Given the description of an element on the screen output the (x, y) to click on. 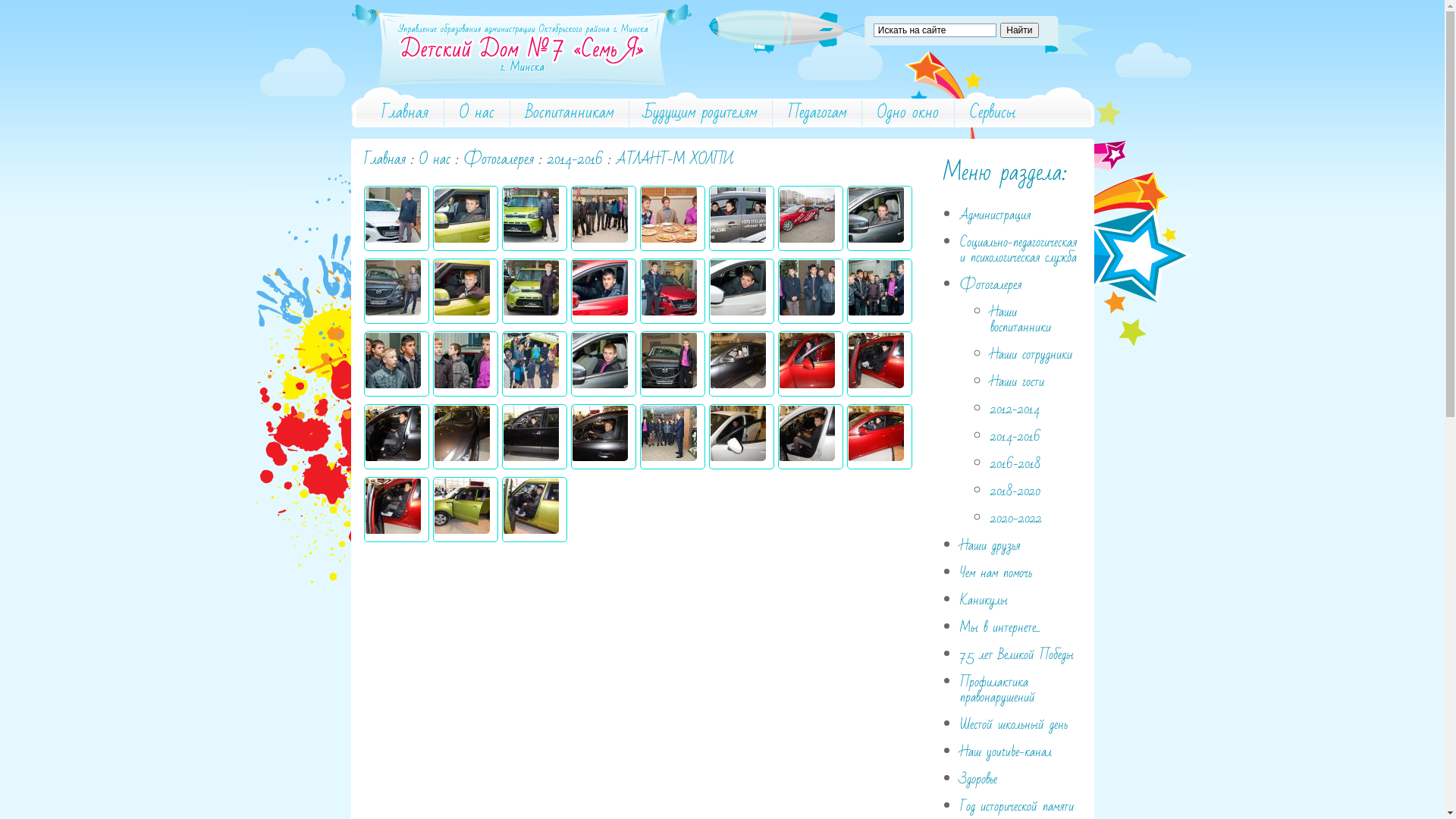
2014-2016 Element type: text (574, 158)
2018-2020 Element type: text (1015, 490)
2014-2016 Element type: text (1015, 436)
2012-2014 Element type: text (1014, 408)
2016-2018 Element type: text (1015, 463)
2020-2022 Element type: text (1015, 518)
